Given the description of an element on the screen output the (x, y) to click on. 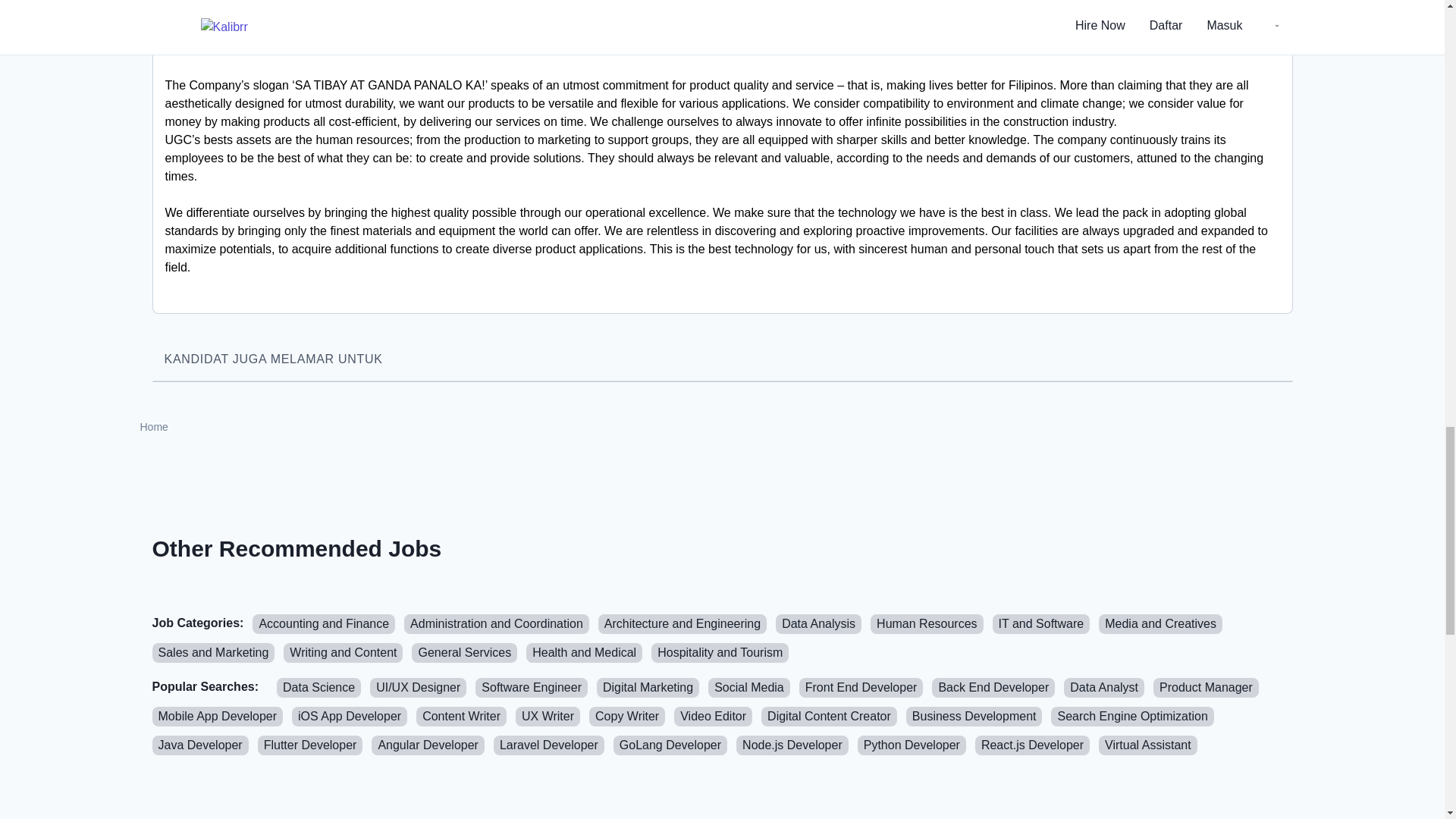
Hospitality and Tourism (719, 652)
Accounting and Finance (322, 623)
Human Resources (927, 623)
Administration and Coordination (496, 623)
Data Analysis (818, 623)
Architecture and Engineering (682, 623)
IT and Software (1041, 623)
Home (153, 426)
Writing and Content (343, 652)
General Services (464, 652)
Sales and Marketing (213, 652)
Media and Creatives (1161, 623)
Health and Medical (583, 652)
